Given the description of an element on the screen output the (x, y) to click on. 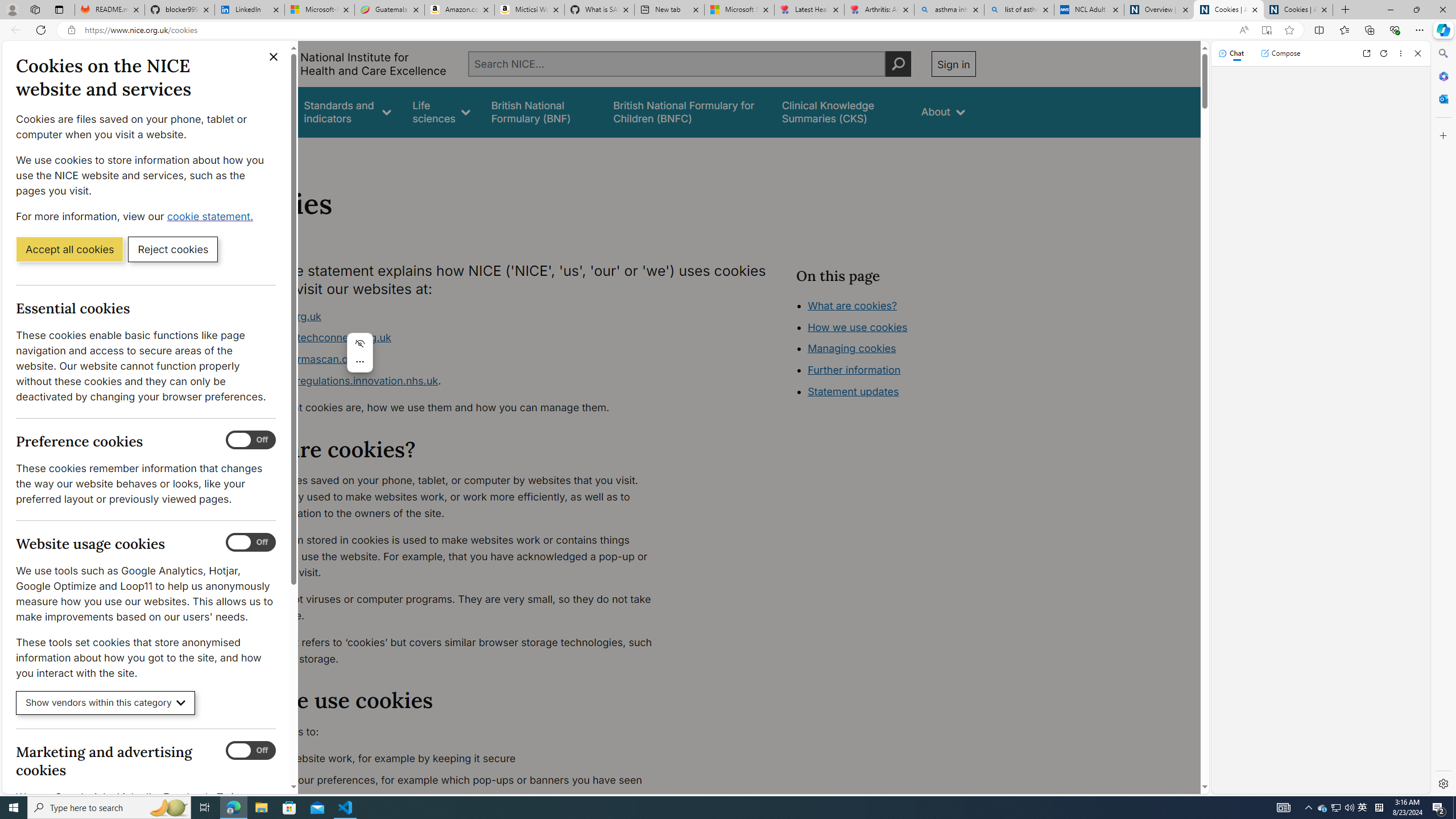
Guidance (260, 111)
More actions (359, 361)
www.healthtechconnect.org.uk (452, 338)
